Given the description of an element on the screen output the (x, y) to click on. 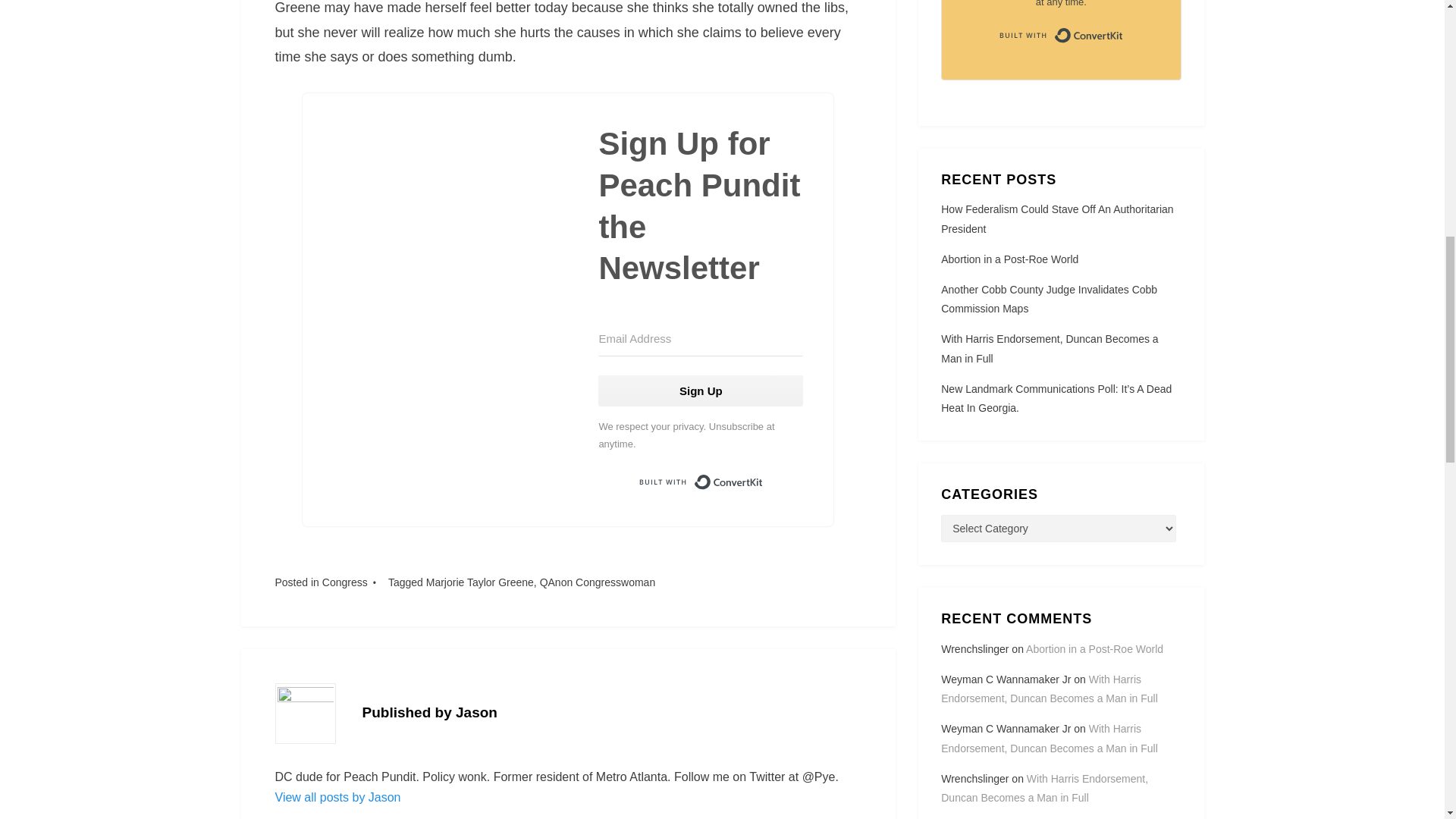
Congress (344, 582)
Sign Up (700, 390)
Abortion in a Post-Roe World (1009, 259)
Another Cobb County Judge Invalidates Cobb Commission Maps (1048, 298)
View all posts by Jason (337, 797)
How Federalism Could Stave Off An Authoritarian President (1056, 218)
Built with ConvertKit (699, 482)
QAnon Congresswoman (598, 582)
Marjorie Taylor Greene (480, 582)
Built with ConvertKit (1060, 35)
